Given the description of an element on the screen output the (x, y) to click on. 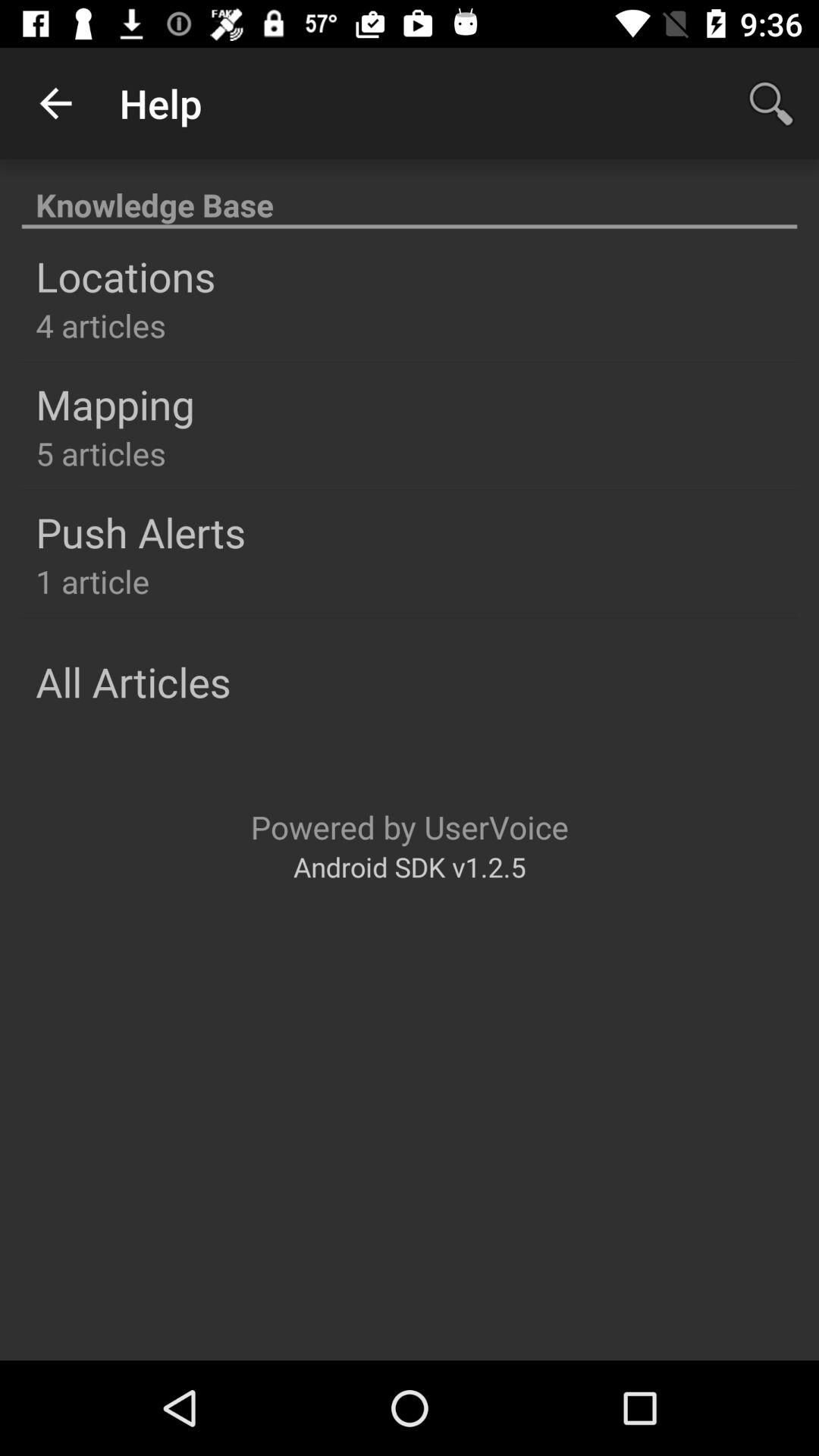
flip until the powered by uservoice icon (409, 826)
